Given the description of an element on the screen output the (x, y) to click on. 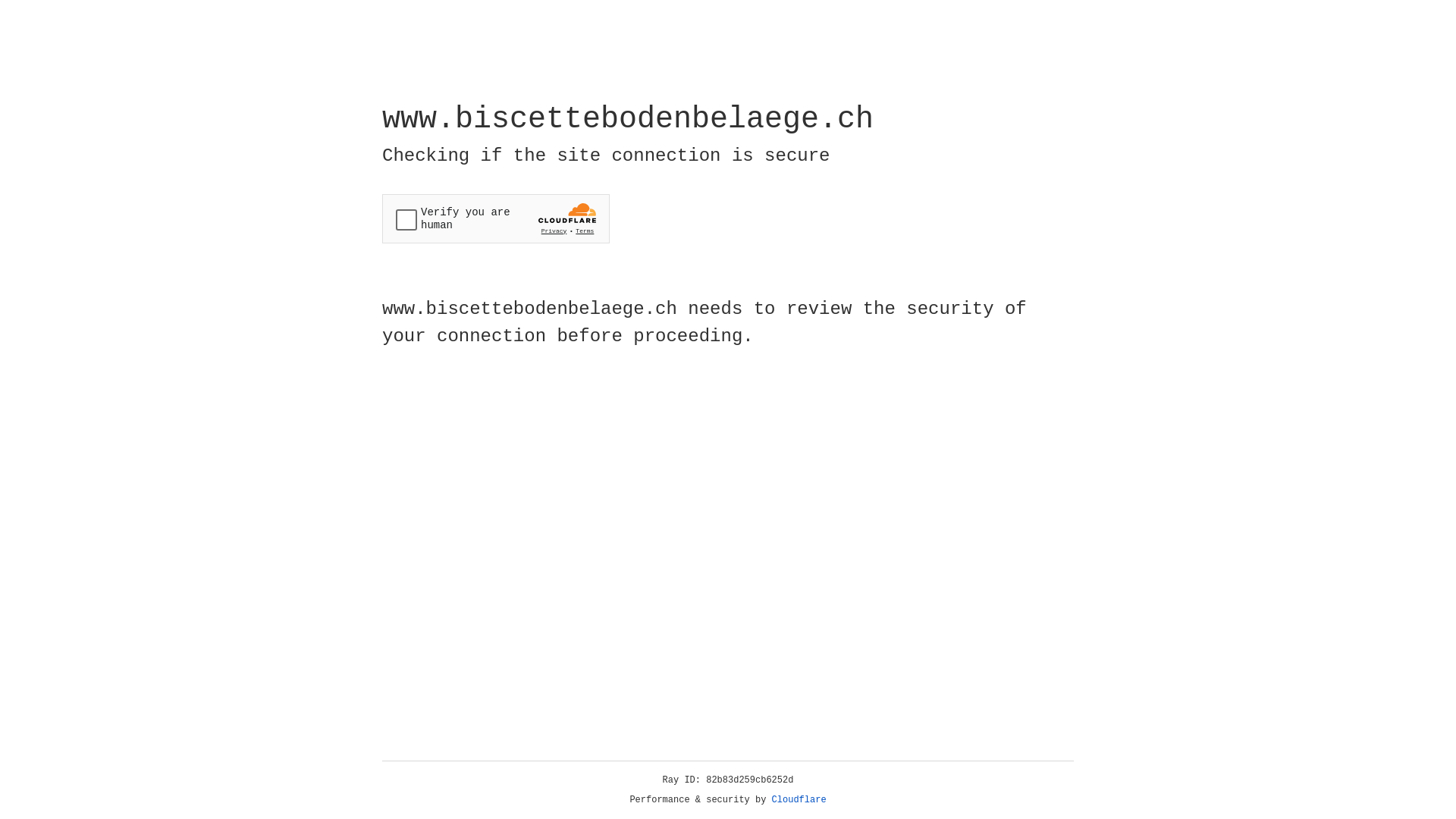
Cloudflare Element type: text (798, 799)
Widget containing a Cloudflare security challenge Element type: hover (495, 218)
